Given the description of an element on the screen output the (x, y) to click on. 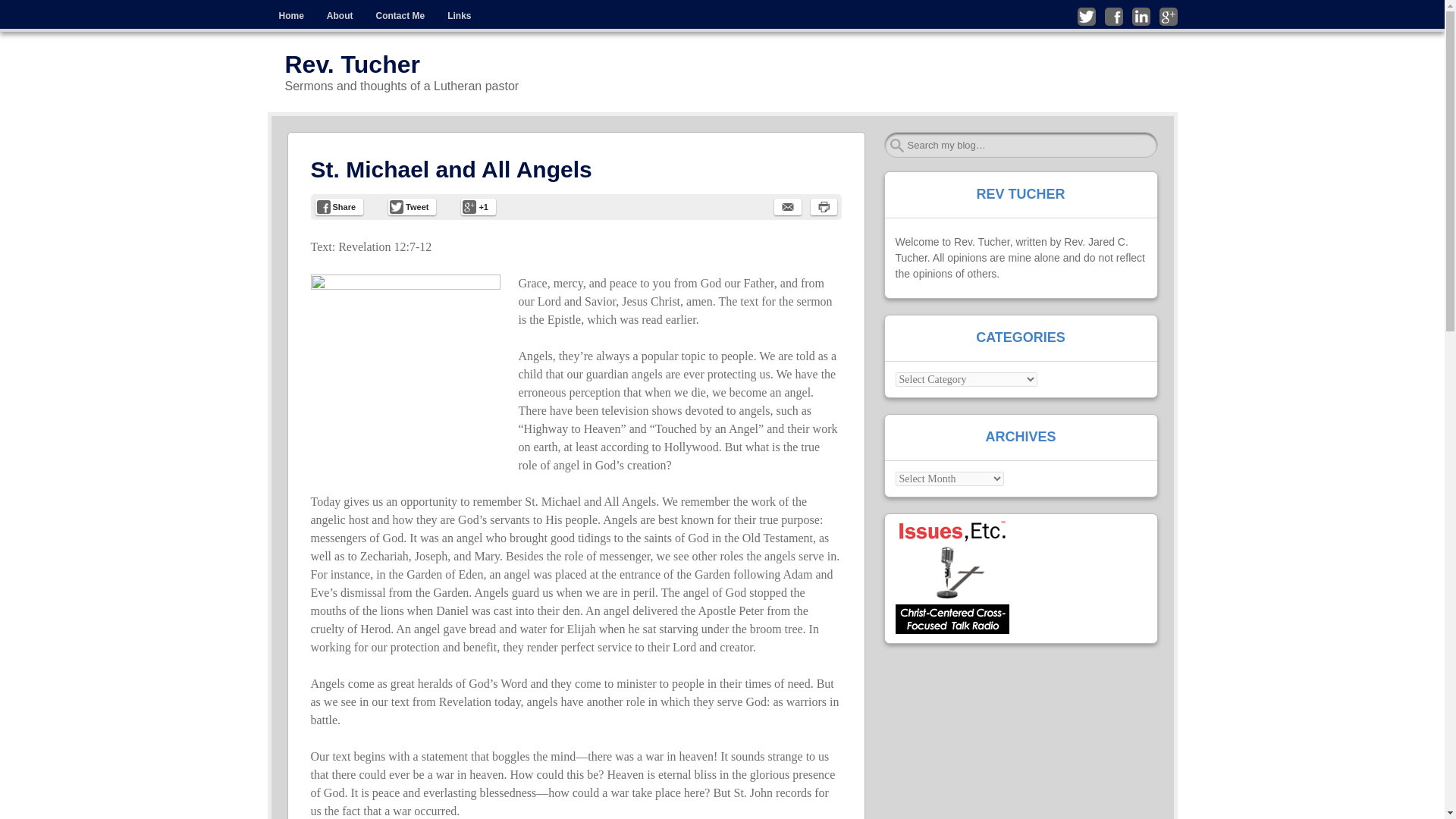
Follow me on Twitter (1085, 16)
Tweet (411, 207)
About (340, 15)
Share (339, 207)
Share on Facebook (339, 207)
Links (458, 15)
Rev. Tucher (352, 63)
print (822, 207)
Skip to content (299, 10)
Rev. Tucher (352, 63)
